Given the description of an element on the screen output the (x, y) to click on. 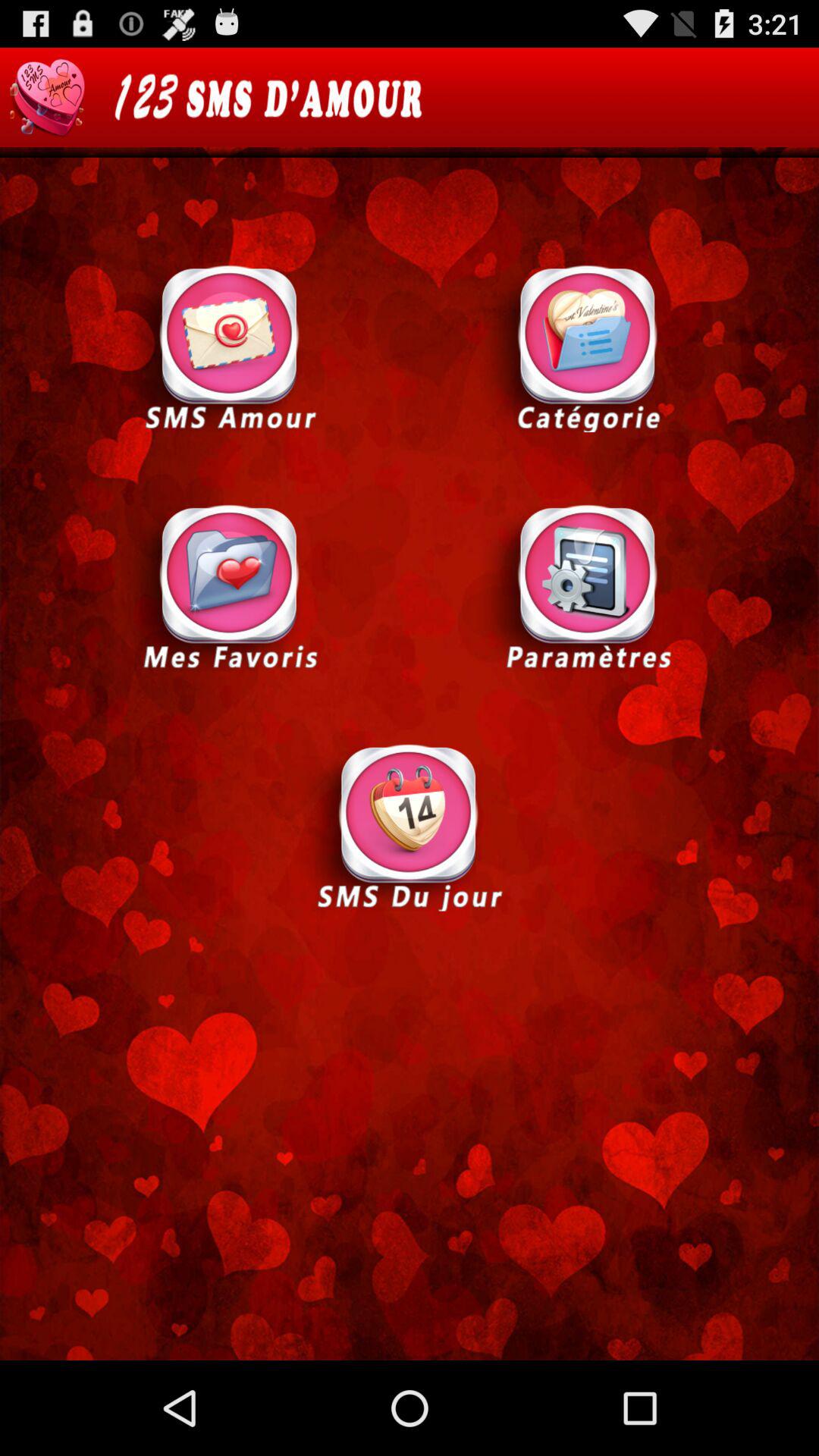
send a message (229, 347)
